Given the description of an element on the screen output the (x, y) to click on. 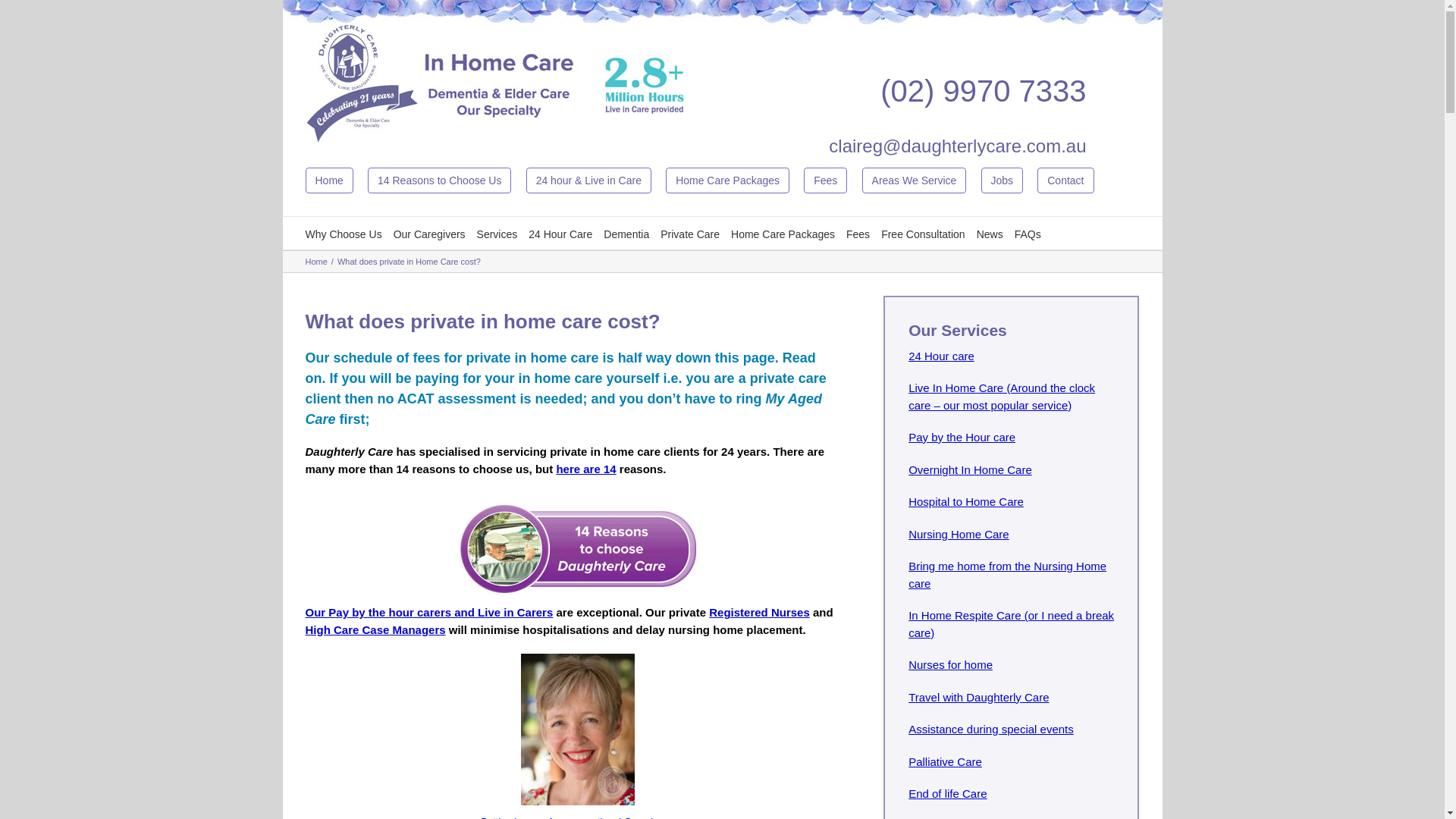
Assistance during special events Element type: text (990, 728)
Why Choose Us Element type: text (342, 232)
Areas We Service Element type: text (914, 180)
Areas We Service Element type: text (920, 178)
Our Caregivers Element type: text (429, 232)
Fees Element type: text (825, 180)
Palliative Care Element type: text (945, 761)
(02) 9970 7333 Element type: text (982, 90)
FAQs Element type: text (1027, 232)
Overnight In Home Care Element type: text (970, 468)
Our Pay by the hour carers and Live in Carers Element type: text (428, 611)
24 hour & Live in Care Element type: text (588, 180)
here are 14 Element type: text (585, 468)
Jobs Element type: text (1008, 178)
In Home Respite Care (or I need a break care) Element type: text (1010, 623)
Home Element type: text (315, 261)
Nurses for home Element type: text (950, 664)
Contact Element type: text (1065, 180)
24 hour & Live in Care Element type: text (594, 178)
Contact Element type: text (1070, 178)
claireg@daughterlycare.com.au Element type: text (956, 146)
Fees Element type: text (857, 232)
Fees Element type: text (830, 178)
Home Element type: text (328, 180)
Registered Nurses Element type: text (759, 611)
Hospital to Home Care Element type: text (965, 501)
14 Reasons to Choose Us Element type: text (439, 180)
Private Care Element type: text (689, 232)
Jobs Element type: text (1002, 180)
Dementia Element type: text (626, 232)
Bring me home from the Nursing Home care Element type: text (1007, 574)
Home Care Packages Element type: text (782, 232)
Home Care Packages Element type: text (727, 180)
24 Hour Care Element type: text (560, 232)
14 Reasons to Choose Us Element type: text (444, 178)
Free Consultation Element type: text (923, 232)
Pay by the Hour care Element type: text (961, 436)
Services Element type: text (496, 232)
Travel with Daughterly Care Element type: text (978, 696)
Home Care Packages Element type: text (732, 178)
End of life Care Element type: text (947, 793)
News Element type: text (989, 232)
Nursing Home Care Element type: text (958, 533)
24 Hour care Element type: text (941, 354)
High Care Case Managers Element type: text (374, 629)
Home Element type: text (334, 178)
